Given the description of an element on the screen output the (x, y) to click on. 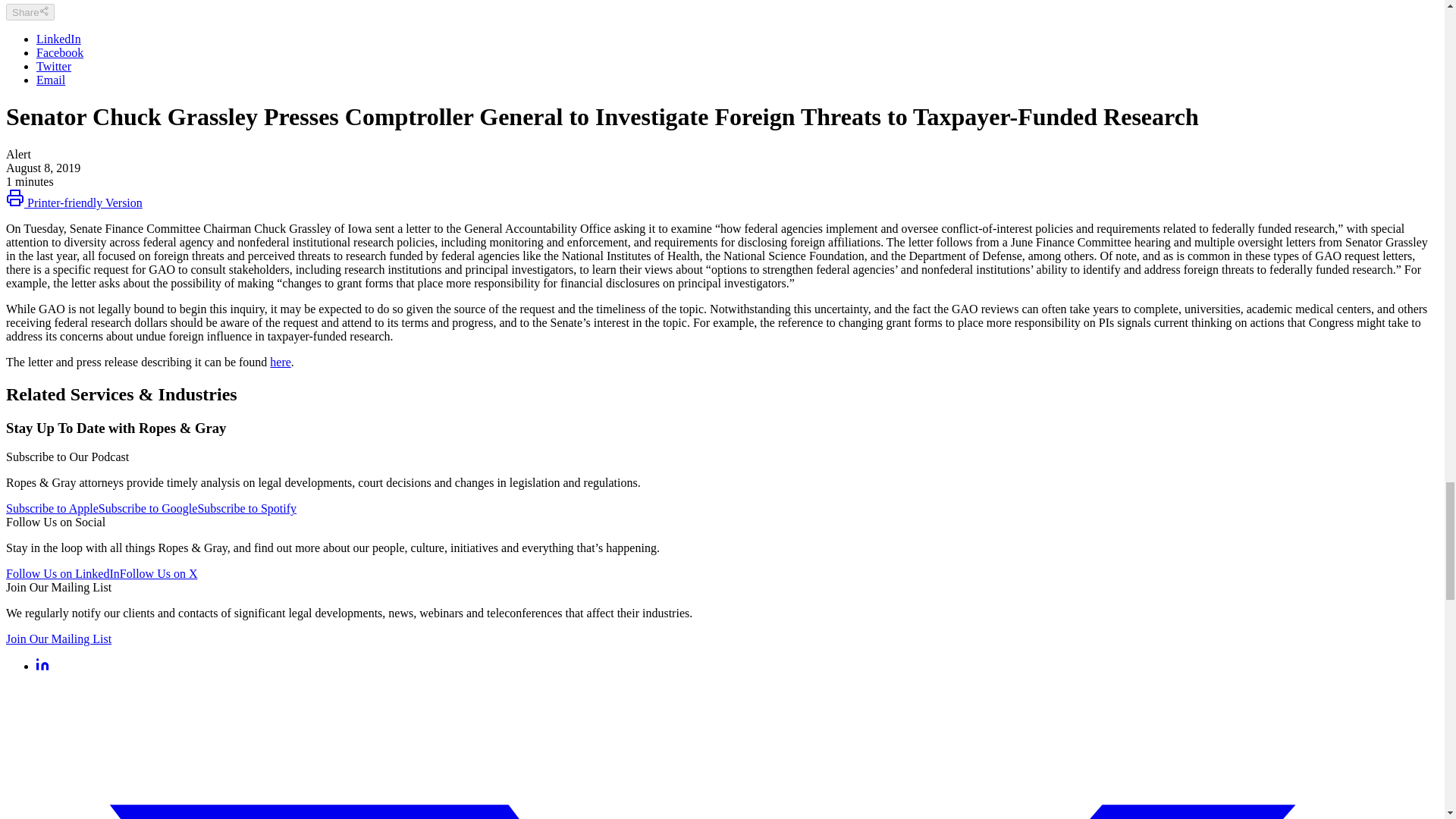
Subscribe to Spotify (246, 508)
Subscribe to Apple (52, 508)
Printer-friendly Version (73, 202)
LinkedIn (58, 38)
Facebook (59, 51)
Share (30, 12)
Email (50, 79)
here (280, 361)
Twitter (53, 65)
linkedin (42, 666)
Follow Us on LinkedIn (62, 573)
Join Our Mailing List (58, 638)
Subscribe to Google (148, 508)
Follow Us on X (158, 573)
